Given the description of an element on the screen output the (x, y) to click on. 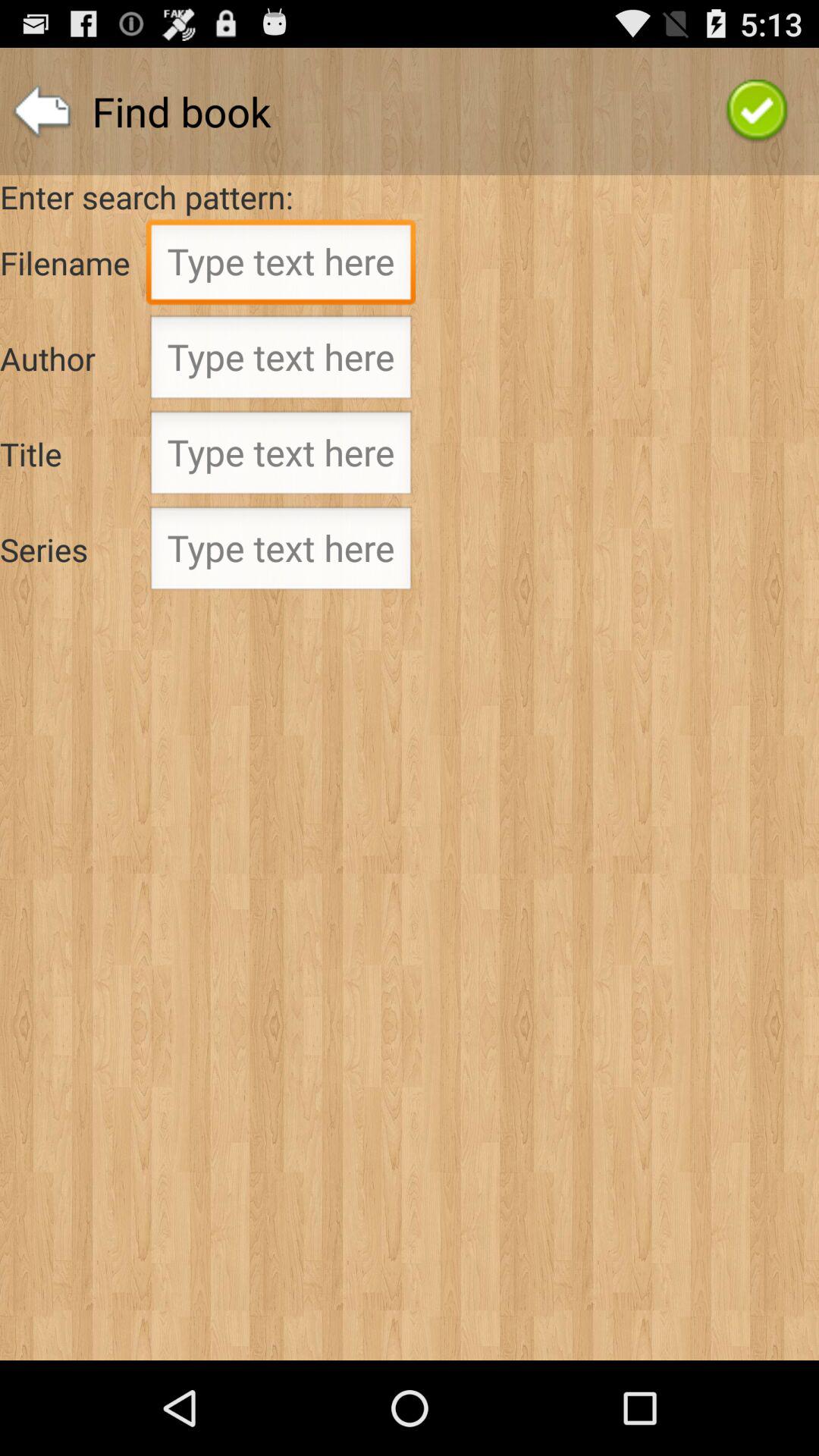
search title (280, 457)
